Given the description of an element on the screen output the (x, y) to click on. 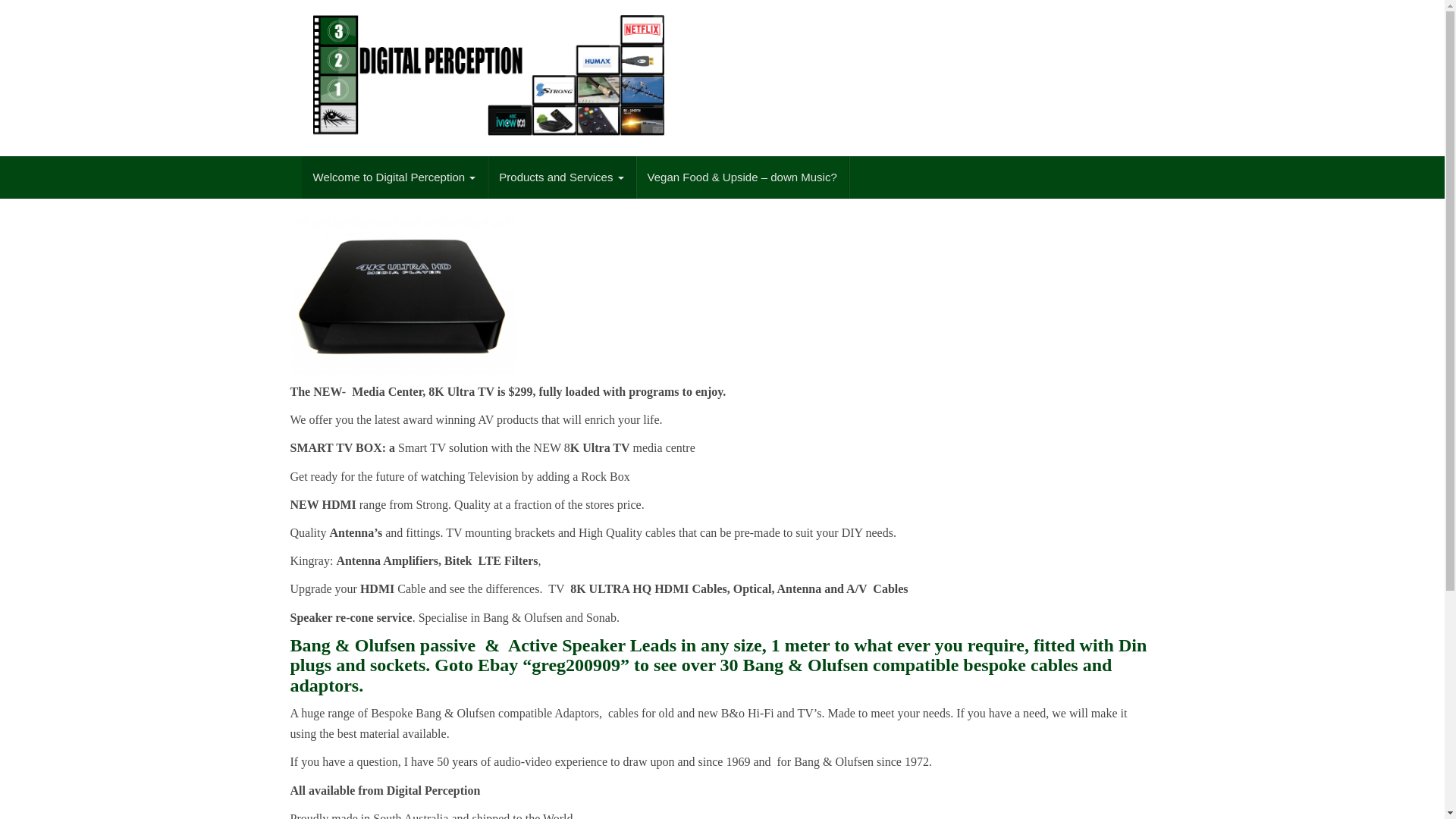
Products and Services Element type: text (561, 177)
Welcome to Digital Perception Element type: text (394, 177)
